Given the description of an element on the screen output the (x, y) to click on. 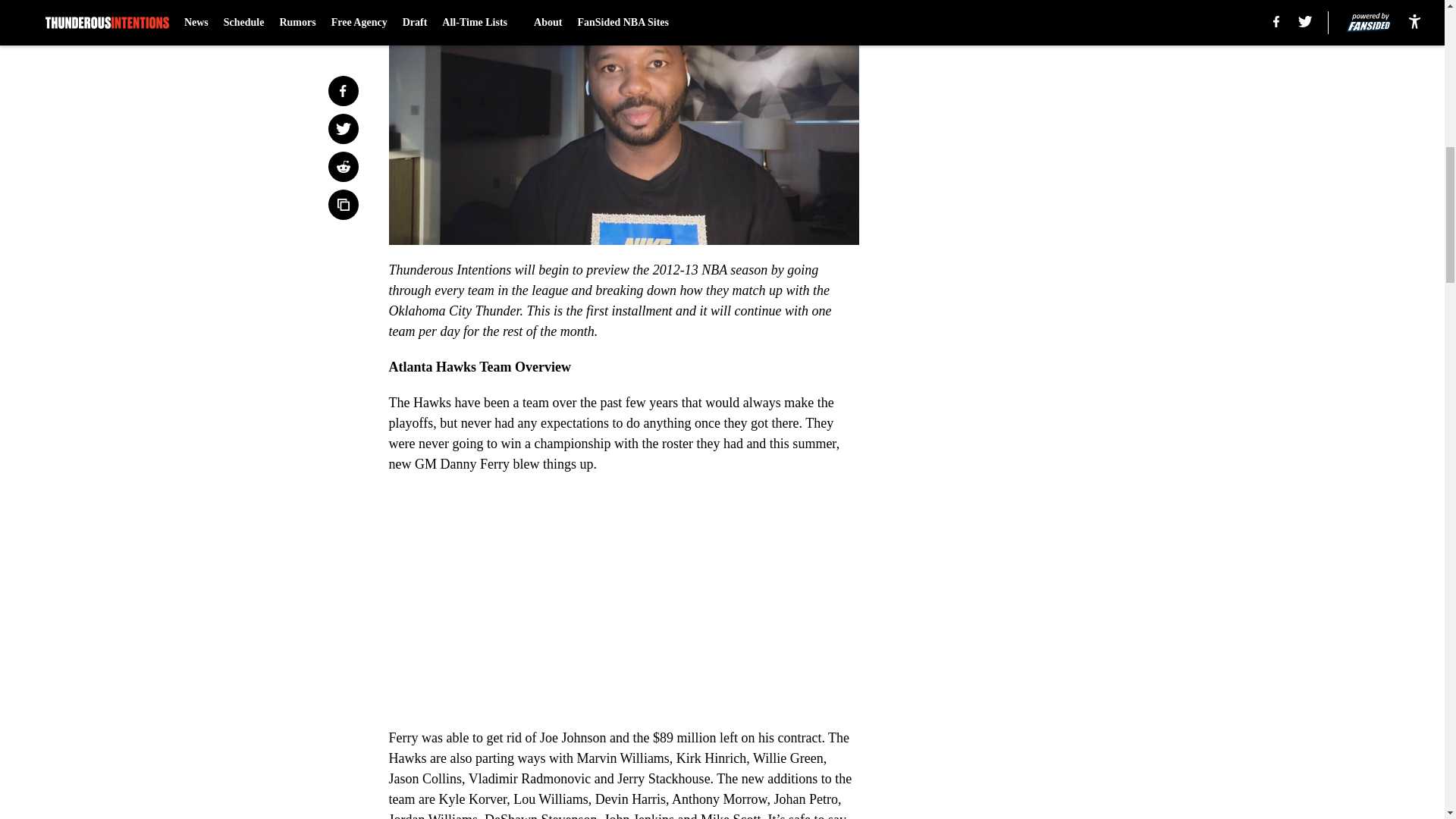
3rd party ad content (1047, 84)
3rd party ad content (1047, 294)
